Given the description of an element on the screen output the (x, y) to click on. 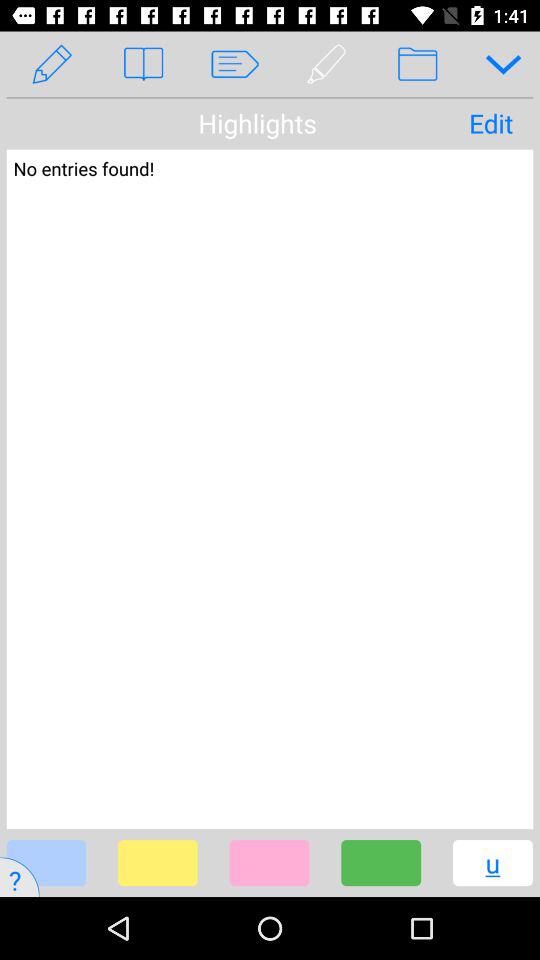
click on the folder icon which is at the top right (417, 64)
select the option edit which is after the highlights (490, 123)
select the box which is at the bottom left corner (46, 863)
select underline icon which is at bottom of the page (474, 877)
select the second icon which is on the top of the page (143, 64)
